Given the description of an element on the screen output the (x, y) to click on. 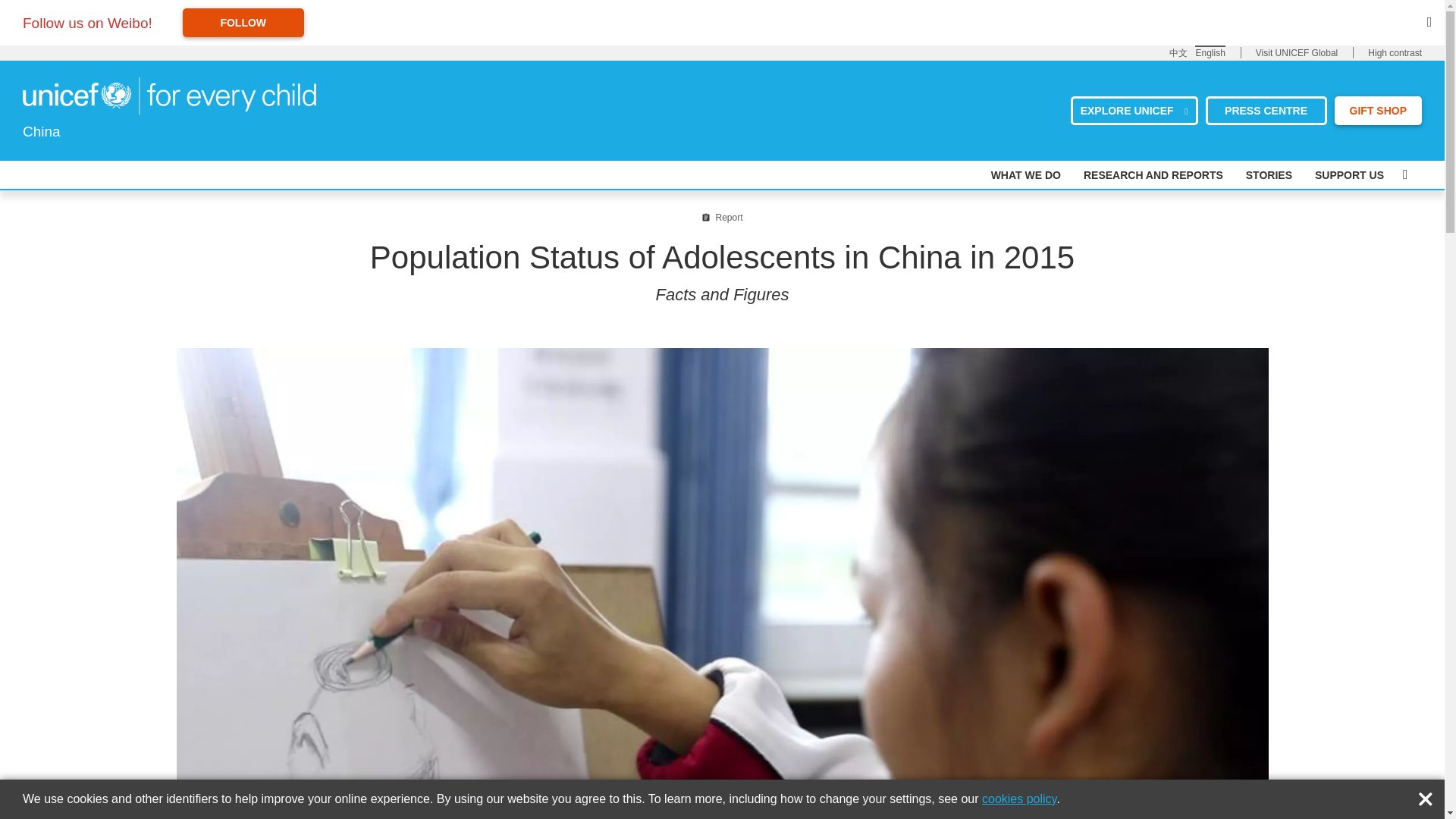
FOLLOW (243, 22)
GIFT SHOP (1378, 109)
cookies policy (1019, 798)
EXPLORE UNICEF (1134, 109)
Visit UNICEF Global (1296, 52)
STORIES (1269, 174)
English (1209, 51)
RESEARCH AND REPORTS (1153, 174)
UNICEF (169, 94)
PRESS CENTRE (1265, 109)
Ok (1428, 794)
SUPPORT US (1349, 174)
EXPLORE UNICEF (1134, 109)
WHAT WE DO (1026, 174)
